Given the description of an element on the screen output the (x, y) to click on. 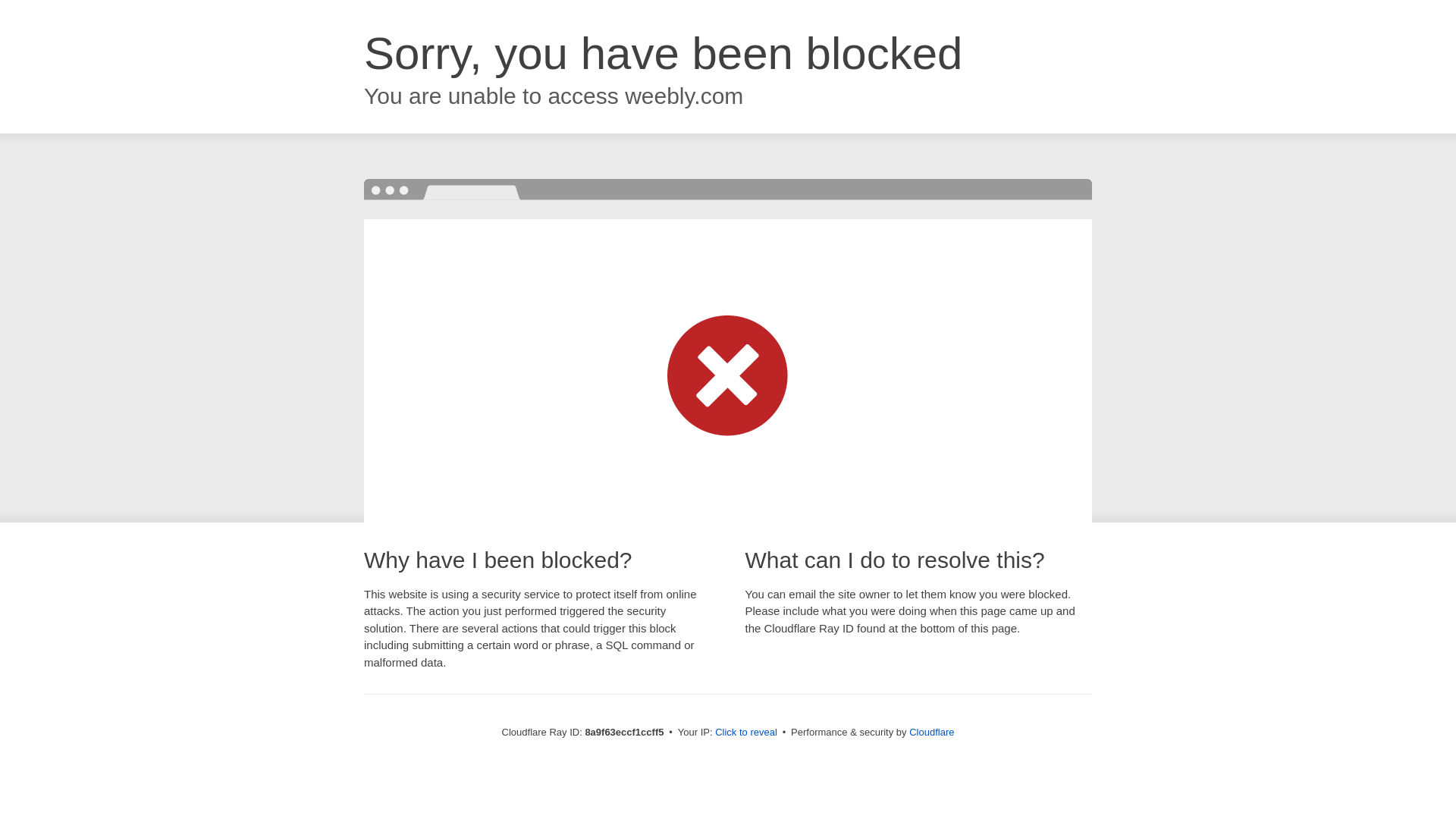
Cloudflare (930, 731)
Click to reveal (745, 732)
